Given the description of an element on the screen output the (x, y) to click on. 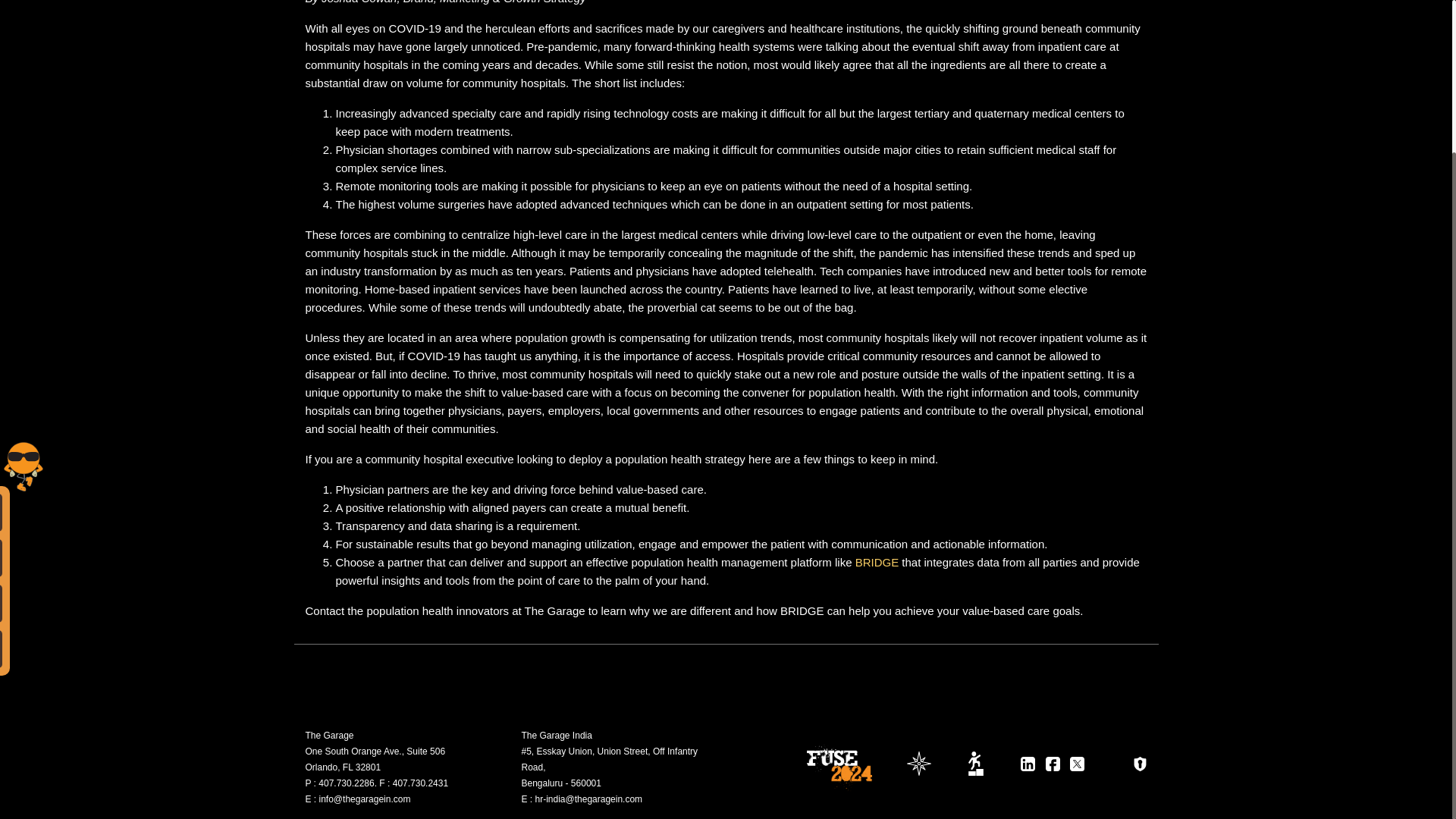
North Star (919, 763)
Facebook (1052, 763)
Linkedin (1027, 763)
Privacy Policy (1139, 763)
Careers (975, 763)
407.730.2286 (346, 783)
Twitter (1077, 763)
BRIDGE (877, 562)
